Given the description of an element on the screen output the (x, y) to click on. 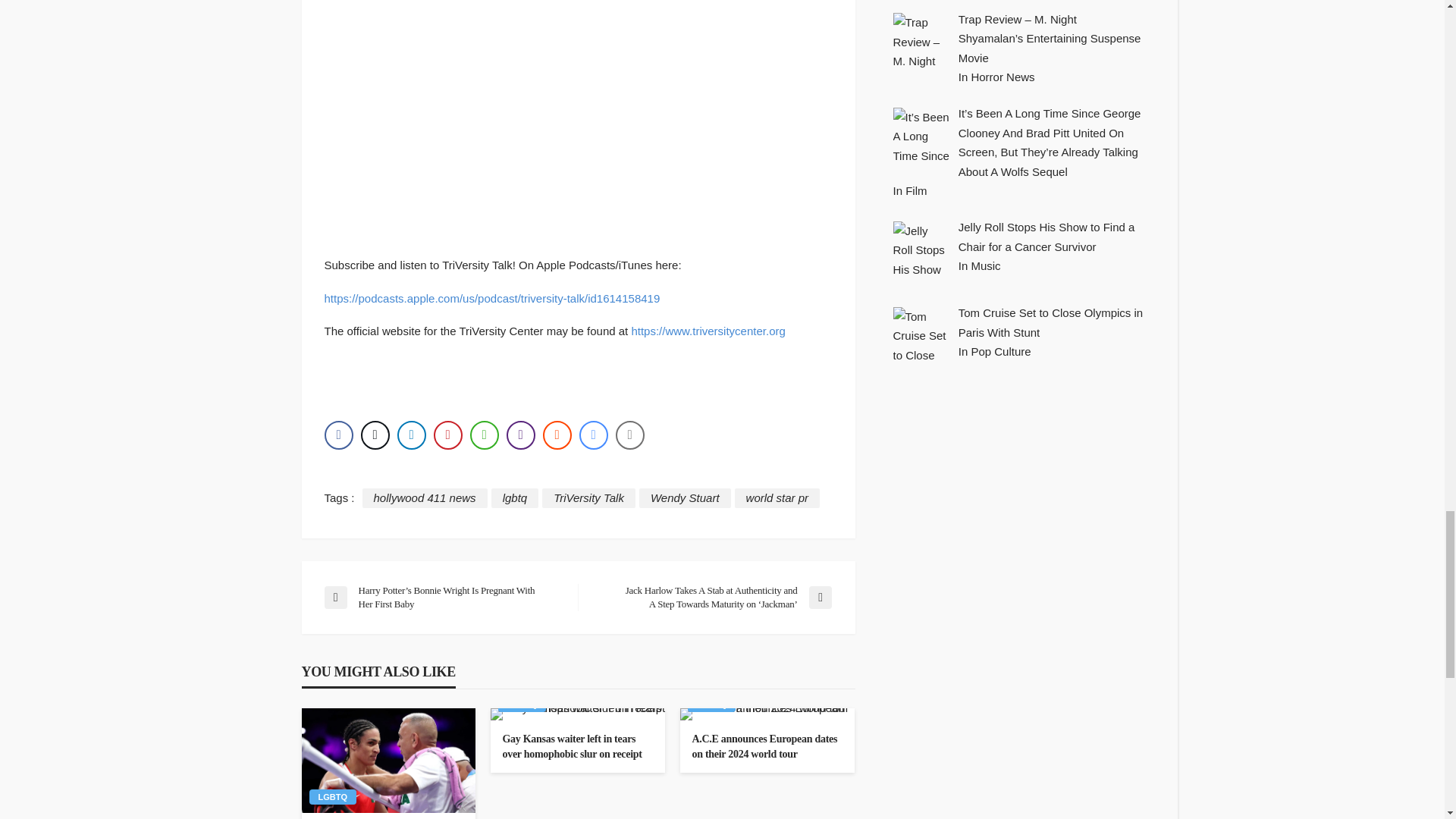
TriVersity Talk (587, 497)
world star pr (778, 497)
lgbtq (515, 497)
Wendy Stuart (684, 497)
hollywood 411 news (424, 497)
LGBTQ (332, 796)
